Given the description of an element on the screen output the (x, y) to click on. 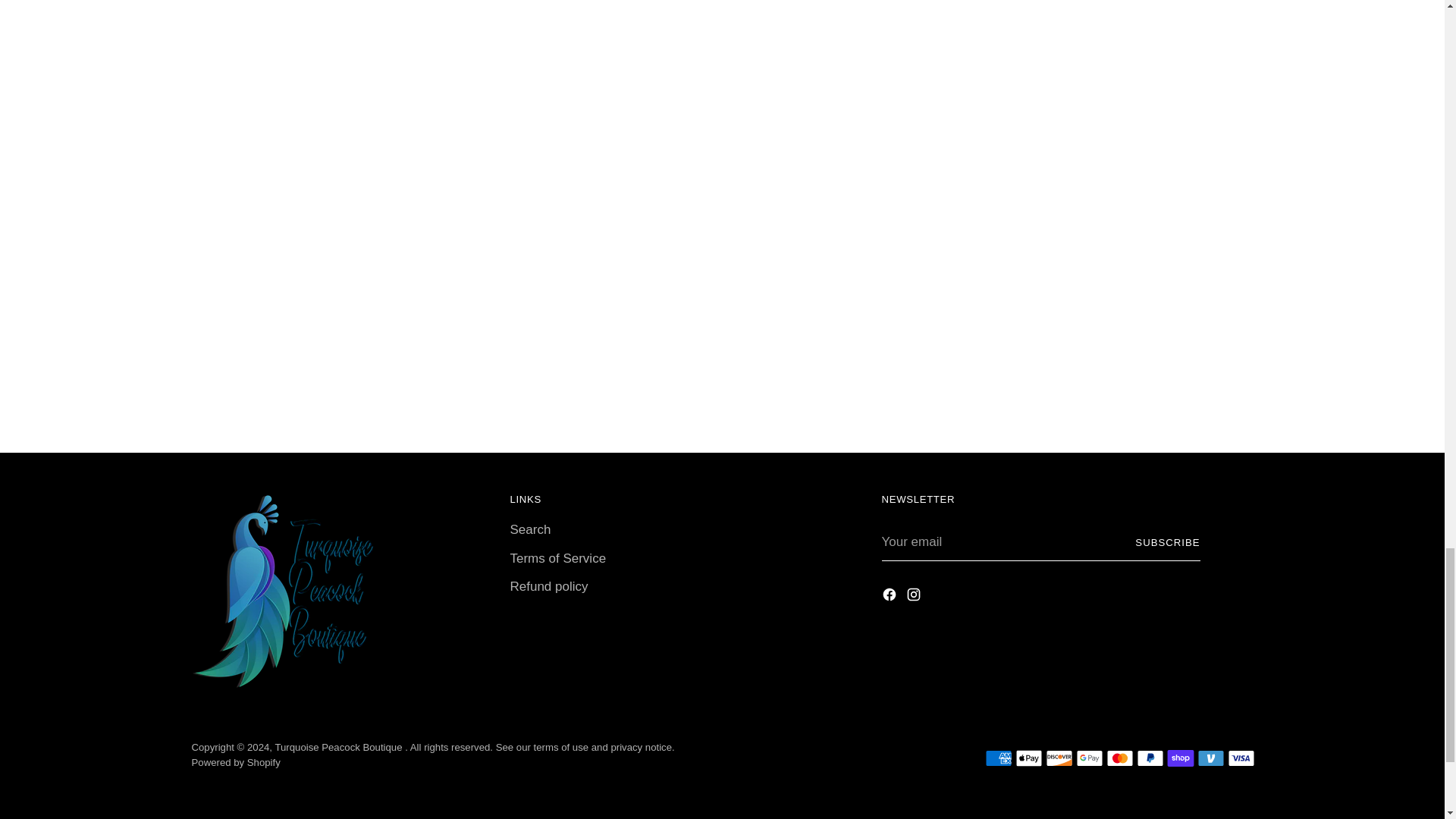
Turquoise Peacock Boutique  on Instagram (914, 597)
Turquoise Peacock Boutique  on Facebook (889, 597)
